Given the description of an element on the screen output the (x, y) to click on. 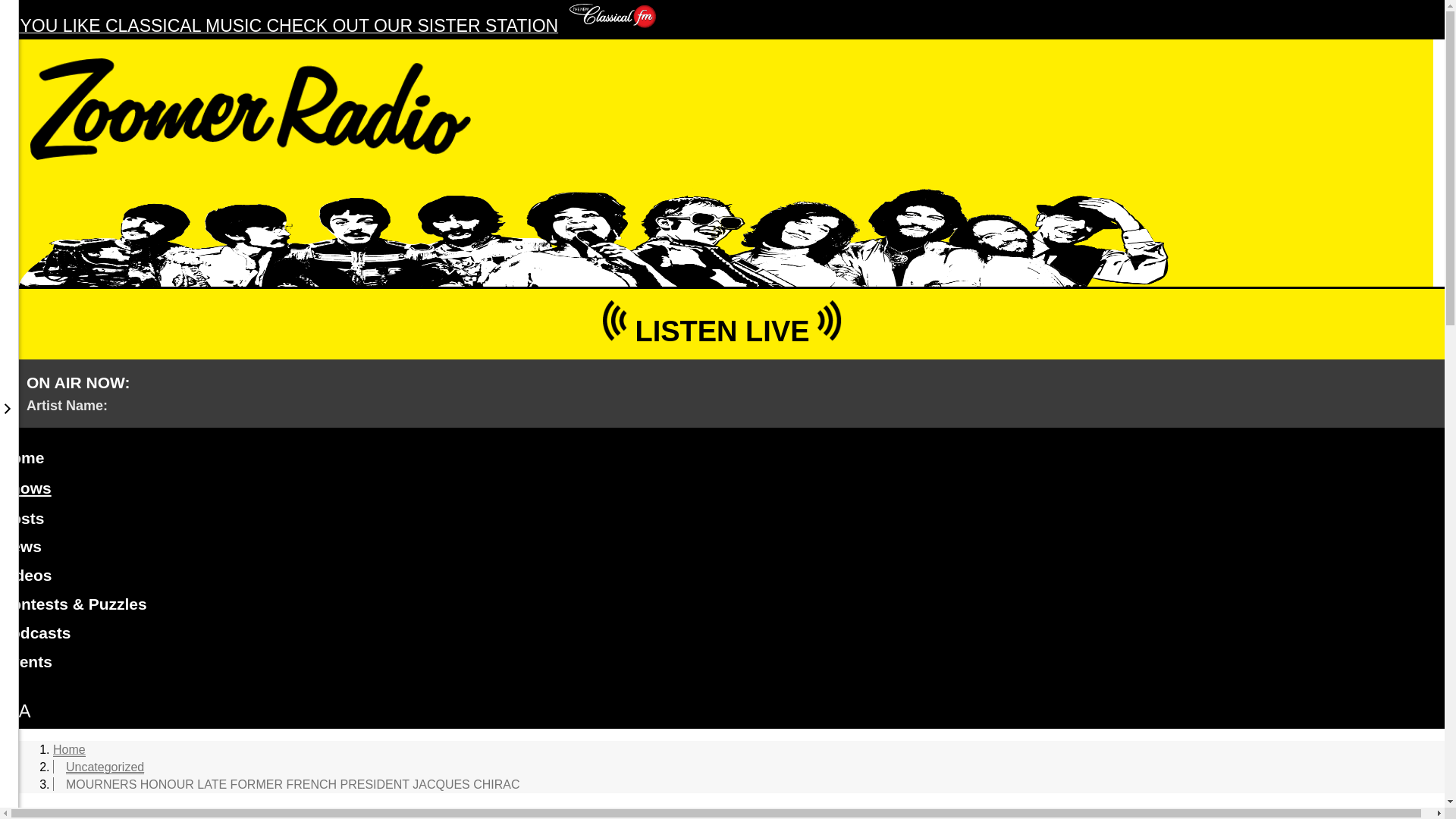
IF YOU LIKE CLASSICAL MUSIC CHECK OUT OUR SISTER STATION (328, 27)
MOURNERS HONOUR LATE FORMER FRENCH PRESIDENT JACQUES CHIRAC (292, 784)
Events (722, 664)
Home (68, 749)
Home (722, 460)
LISTEN LIVE (722, 322)
Podcasts (722, 635)
Shows (25, 488)
Uncategorized (104, 766)
Hosts (722, 520)
News (722, 548)
Videos (722, 577)
